Given the description of an element on the screen output the (x, y) to click on. 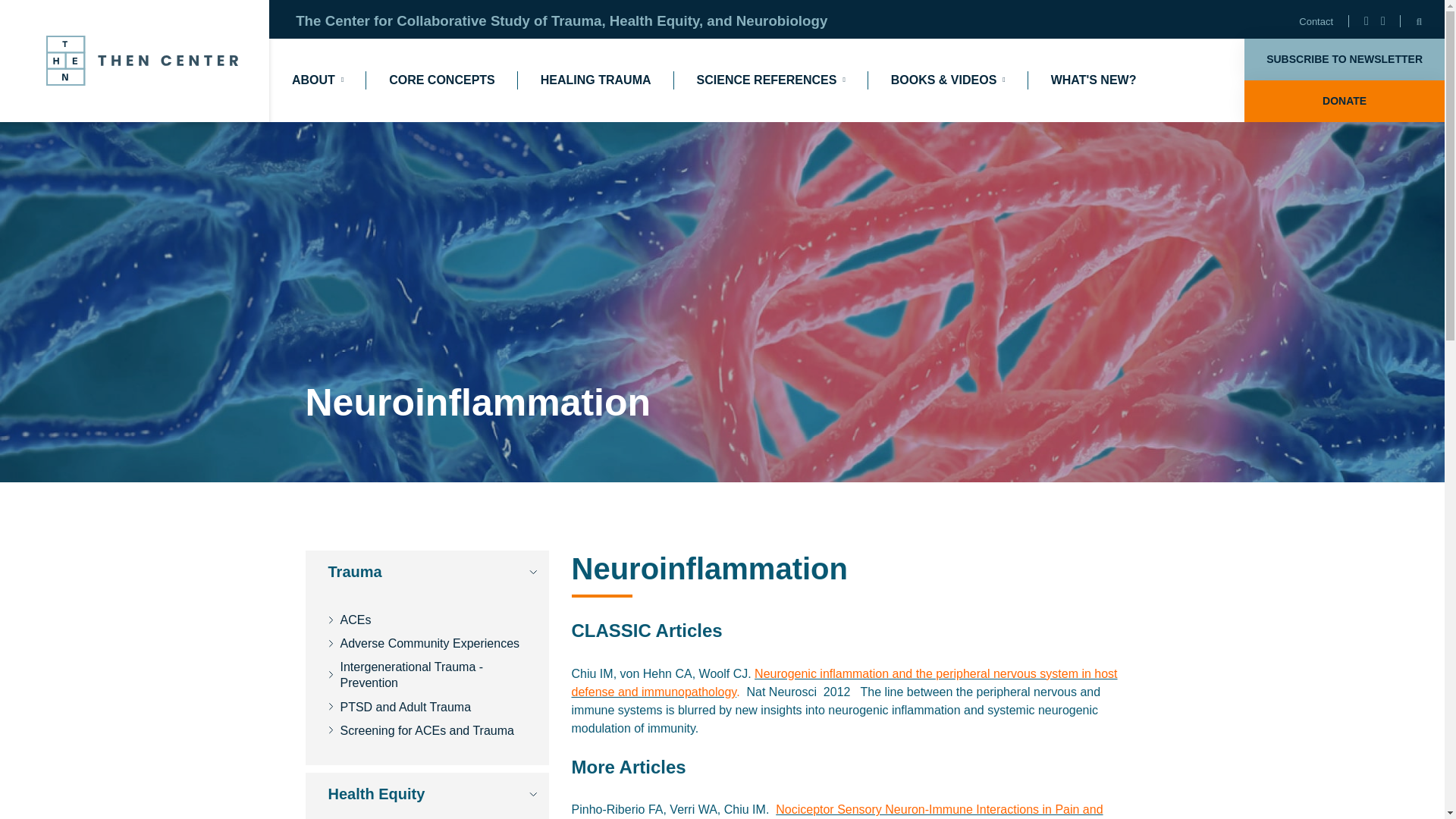
Home (143, 60)
WHAT'S NEW? (1094, 80)
SCIENCE REFERENCES (771, 80)
Contact (1315, 21)
CORE CONCEPTS (441, 80)
HEALING TRAUMA (595, 80)
